Given the description of an element on the screen output the (x, y) to click on. 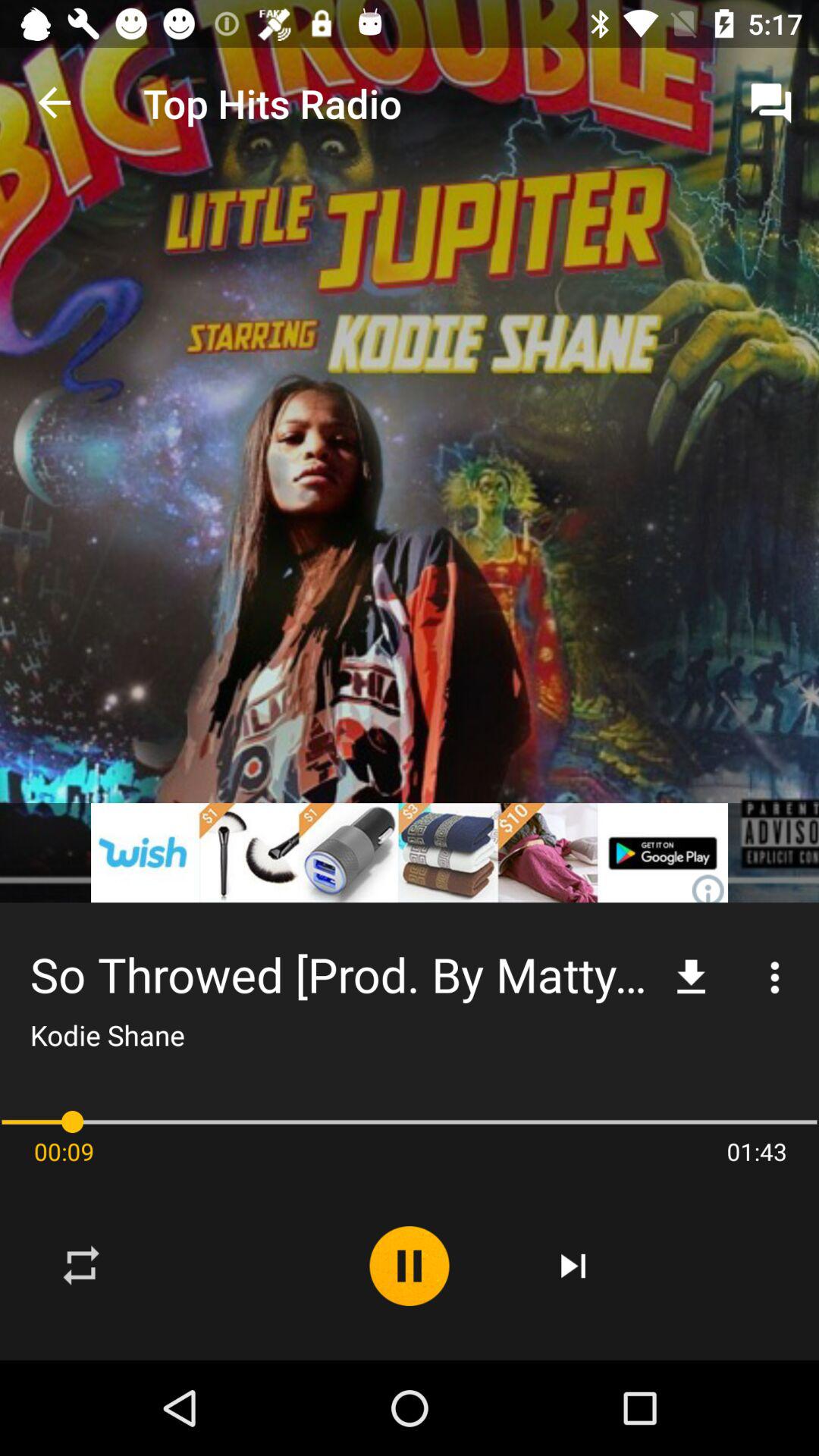
turn on the app next to the top hits radio item (55, 103)
